Given the description of an element on the screen output the (x, y) to click on. 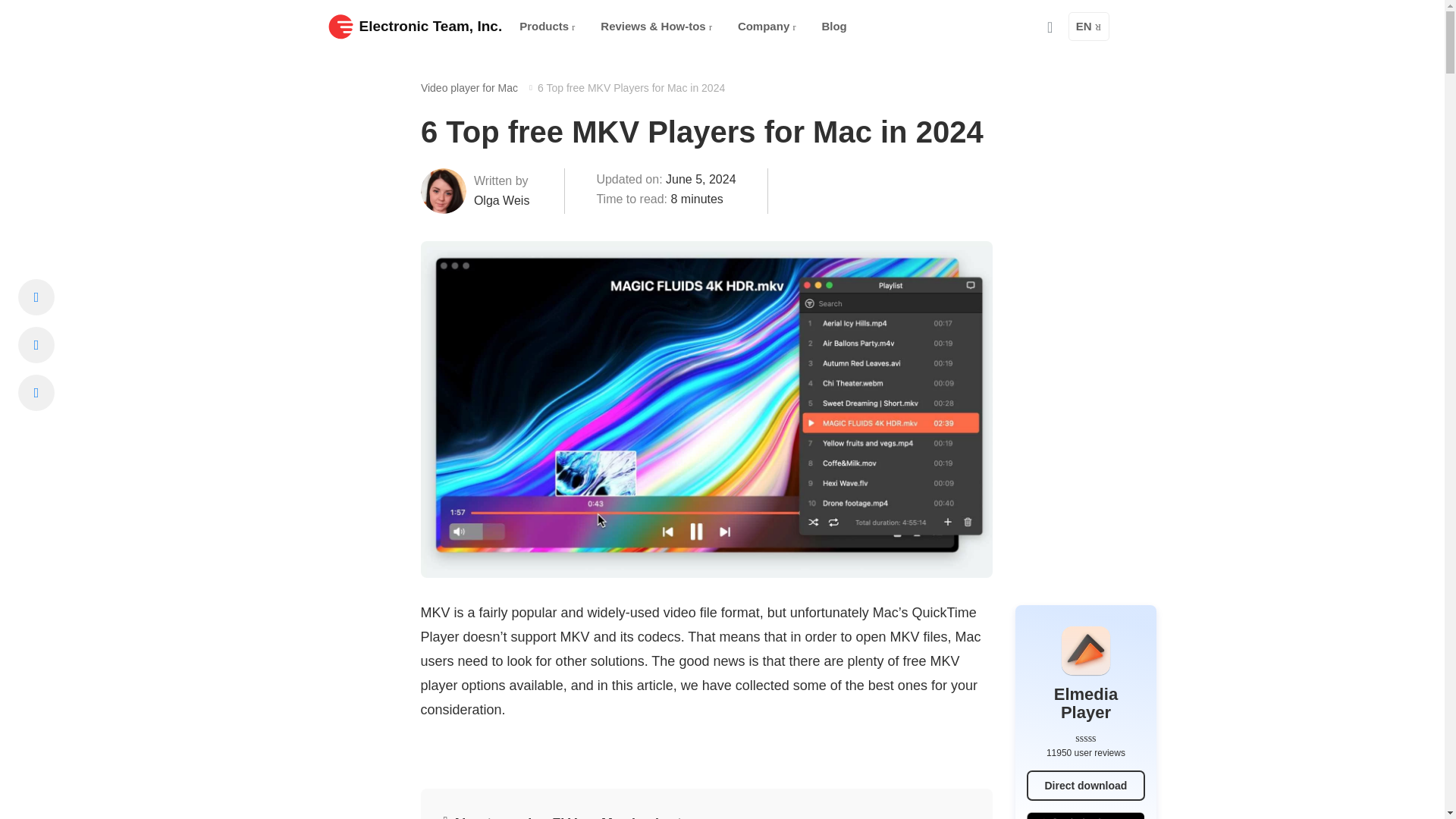
Electronic Team, Inc. (414, 25)
Products (547, 26)
Company (767, 26)
EN (1088, 26)
Blog (834, 26)
Blog (834, 26)
